Given the description of an element on the screen output the (x, y) to click on. 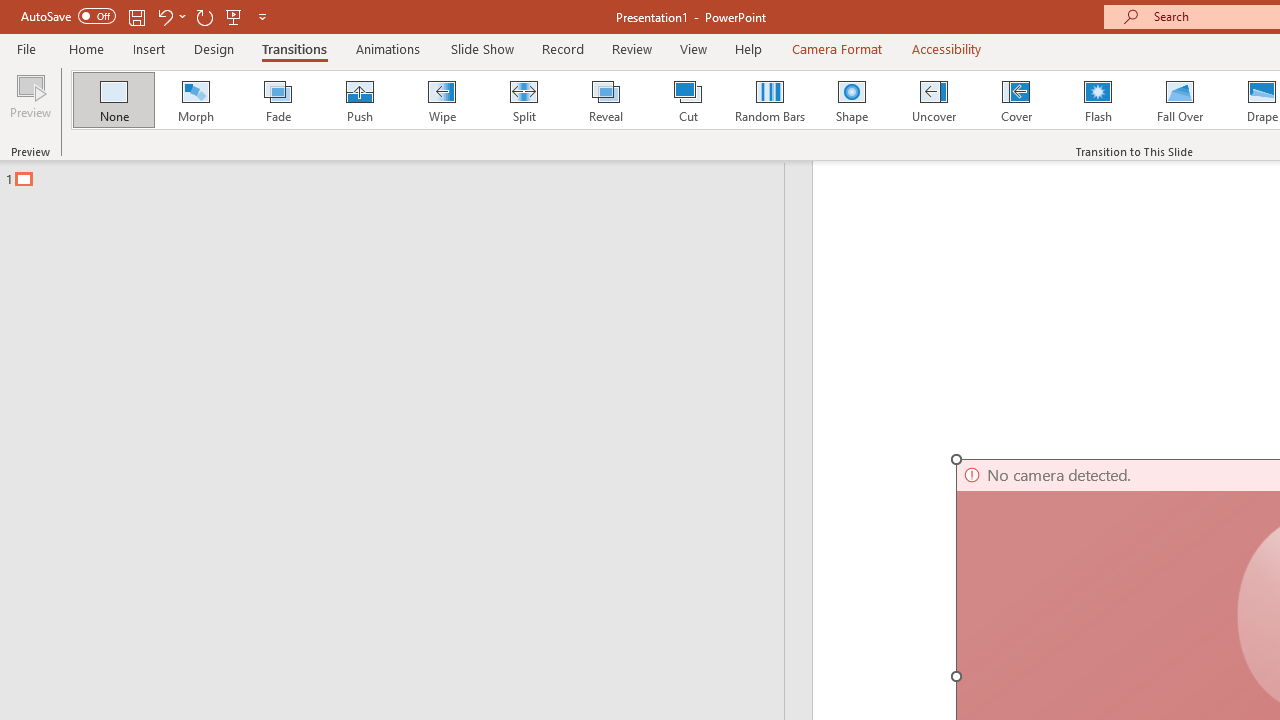
Customize Quick Access Toolbar (262, 15)
System (10, 11)
Split (523, 100)
Slide Show (481, 48)
Quick Access Toolbar (145, 16)
Cut (687, 100)
Shape (852, 100)
Insert (149, 48)
Camera Format (836, 48)
More Options (182, 15)
File Tab (26, 48)
Uncover (934, 100)
Accessibility (946, 48)
Reveal (605, 100)
